Given the description of an element on the screen output the (x, y) to click on. 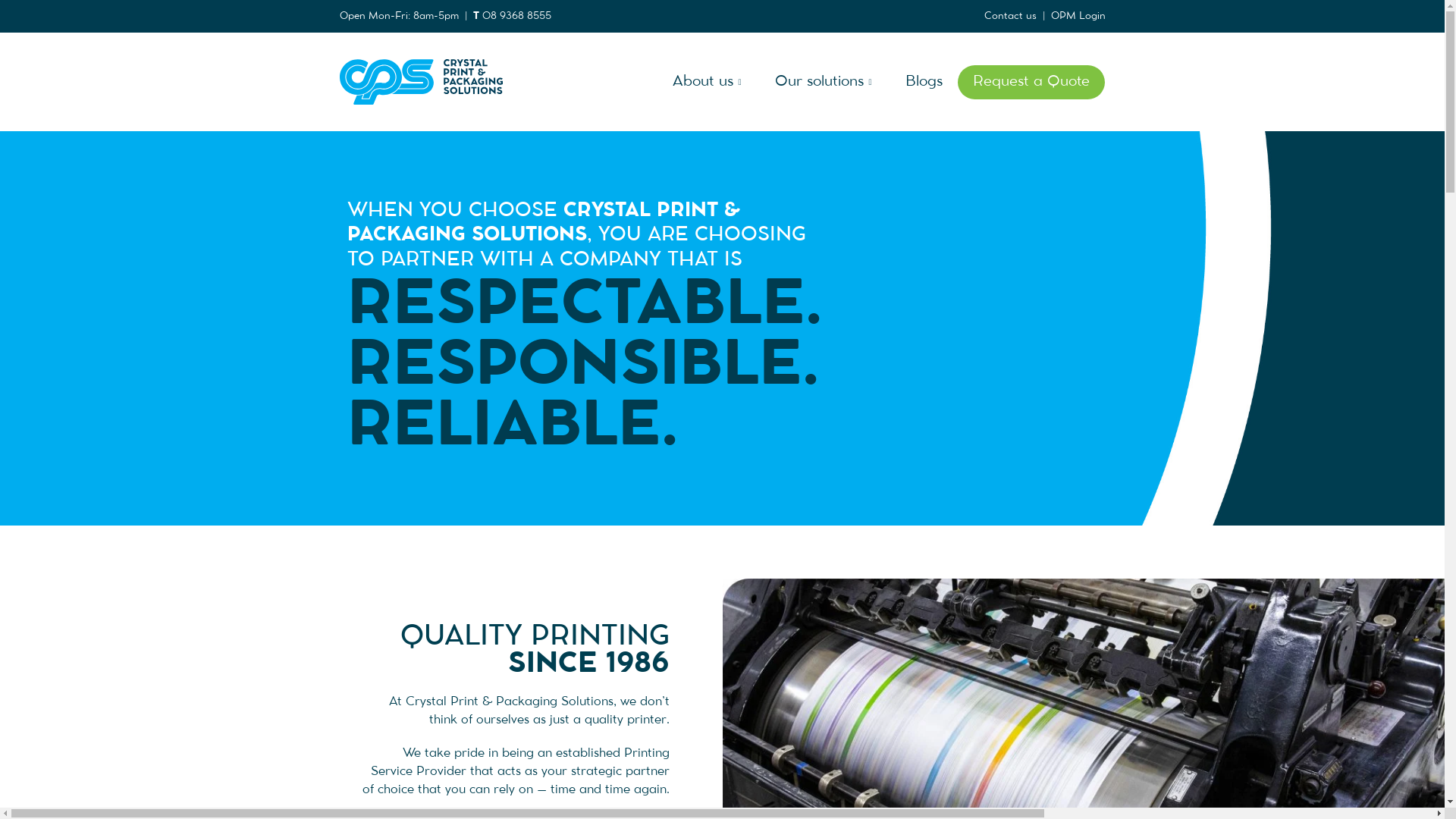
Blogs Element type: text (923, 82)
Our solutions Element type: text (824, 82)
08 9368 8555 Element type: text (516, 15)
OPM Login Element type: text (1078, 15)
Request a Quote Element type: text (1030, 82)
Contact us Element type: text (1010, 15)
About us Element type: text (708, 82)
